Given the description of an element on the screen output the (x, y) to click on. 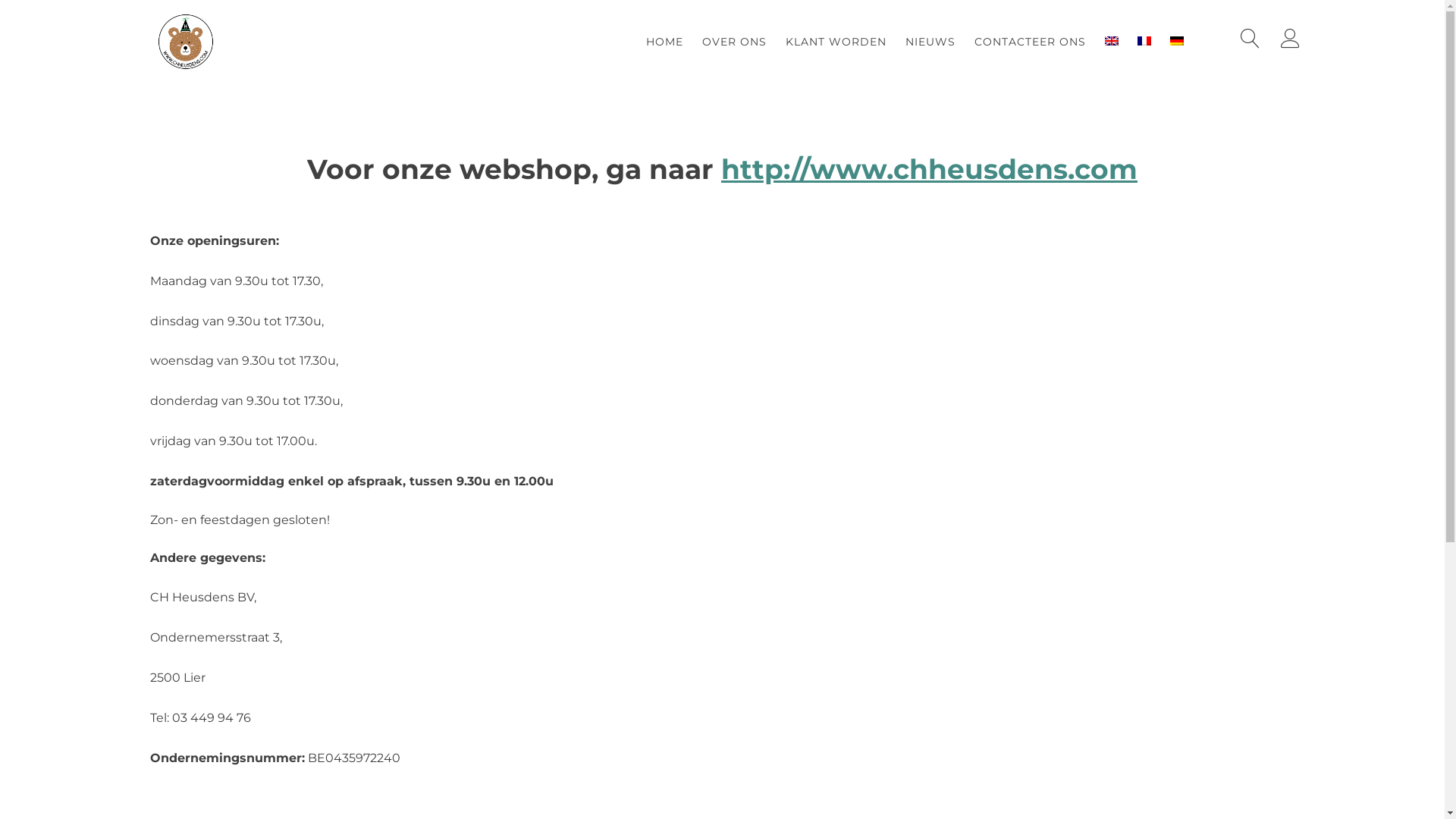
http://www.chheusdens.com Element type: text (929, 168)
KLANT WORDEN Element type: text (835, 41)
HOME Element type: text (664, 41)
CONTACTEER ONS Element type: text (1029, 41)
NIEUWS Element type: text (930, 41)
OVER ONS Element type: text (734, 41)
